Given the description of an element on the screen output the (x, y) to click on. 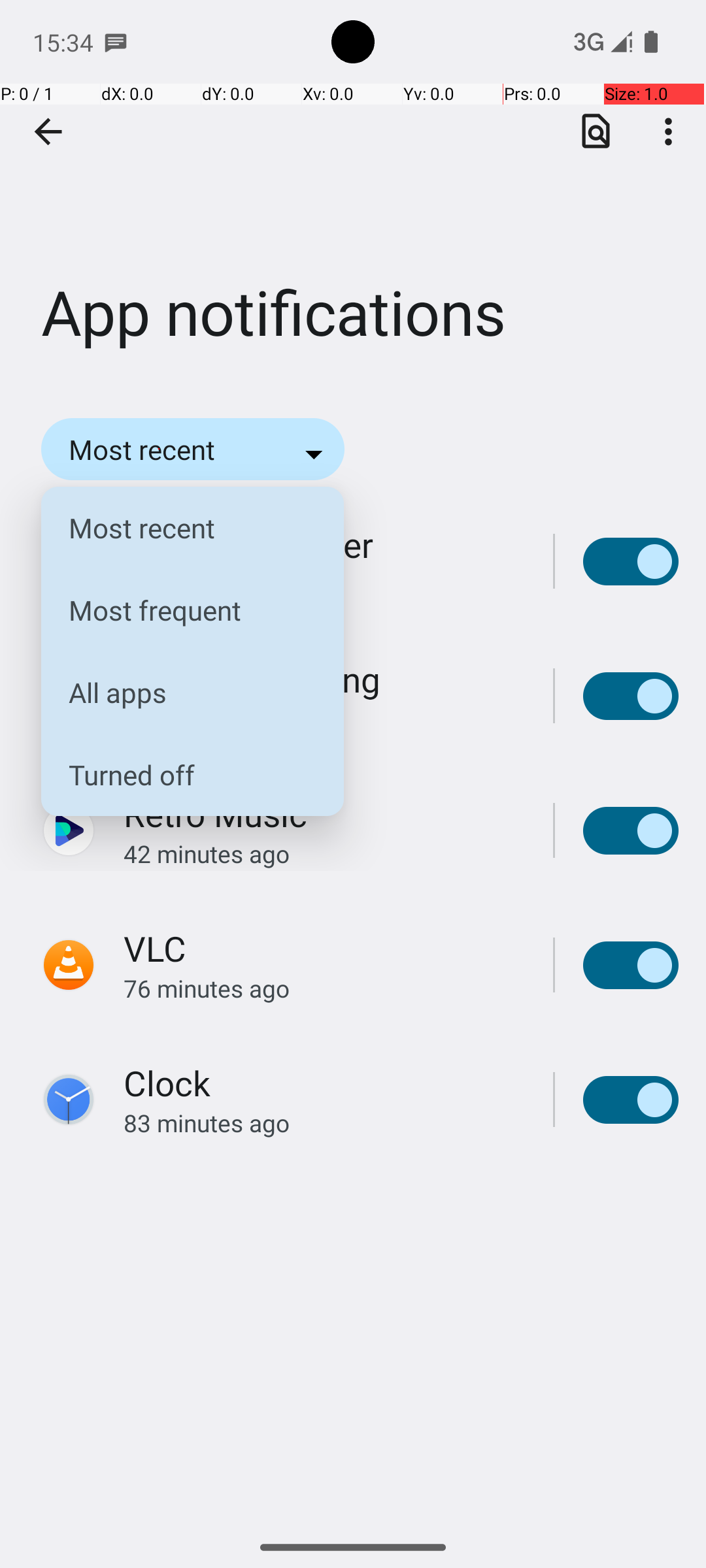
Most recent Element type: android.widget.TextView (182, 527)
Most frequent Element type: android.widget.TextView (182, 610)
All apps Element type: android.widget.TextView (182, 692)
Turned off Element type: android.widget.TextView (182, 774)
